Given the description of an element on the screen output the (x, y) to click on. 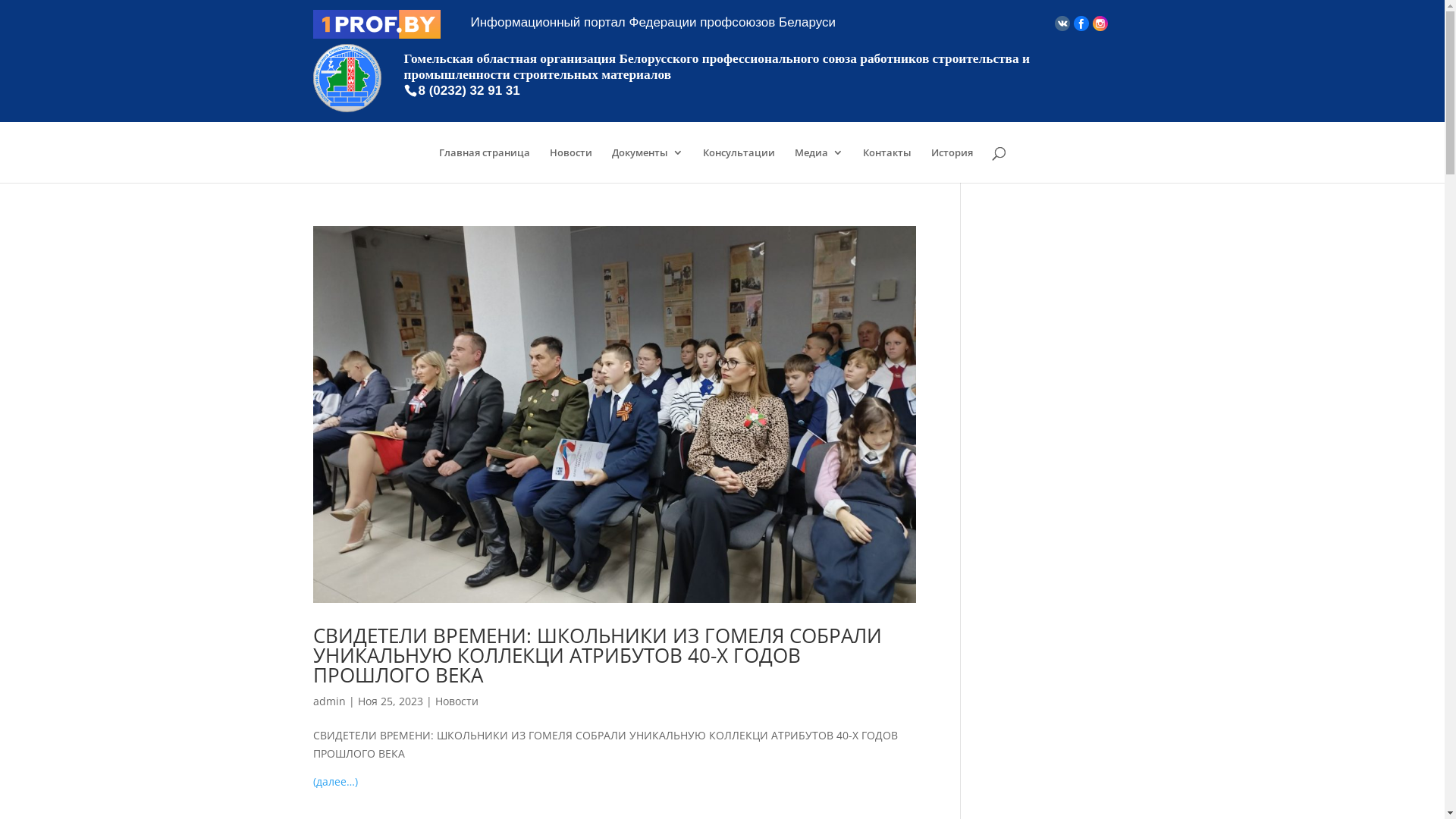
admin Element type: text (328, 700)
